Given the description of an element on the screen output the (x, y) to click on. 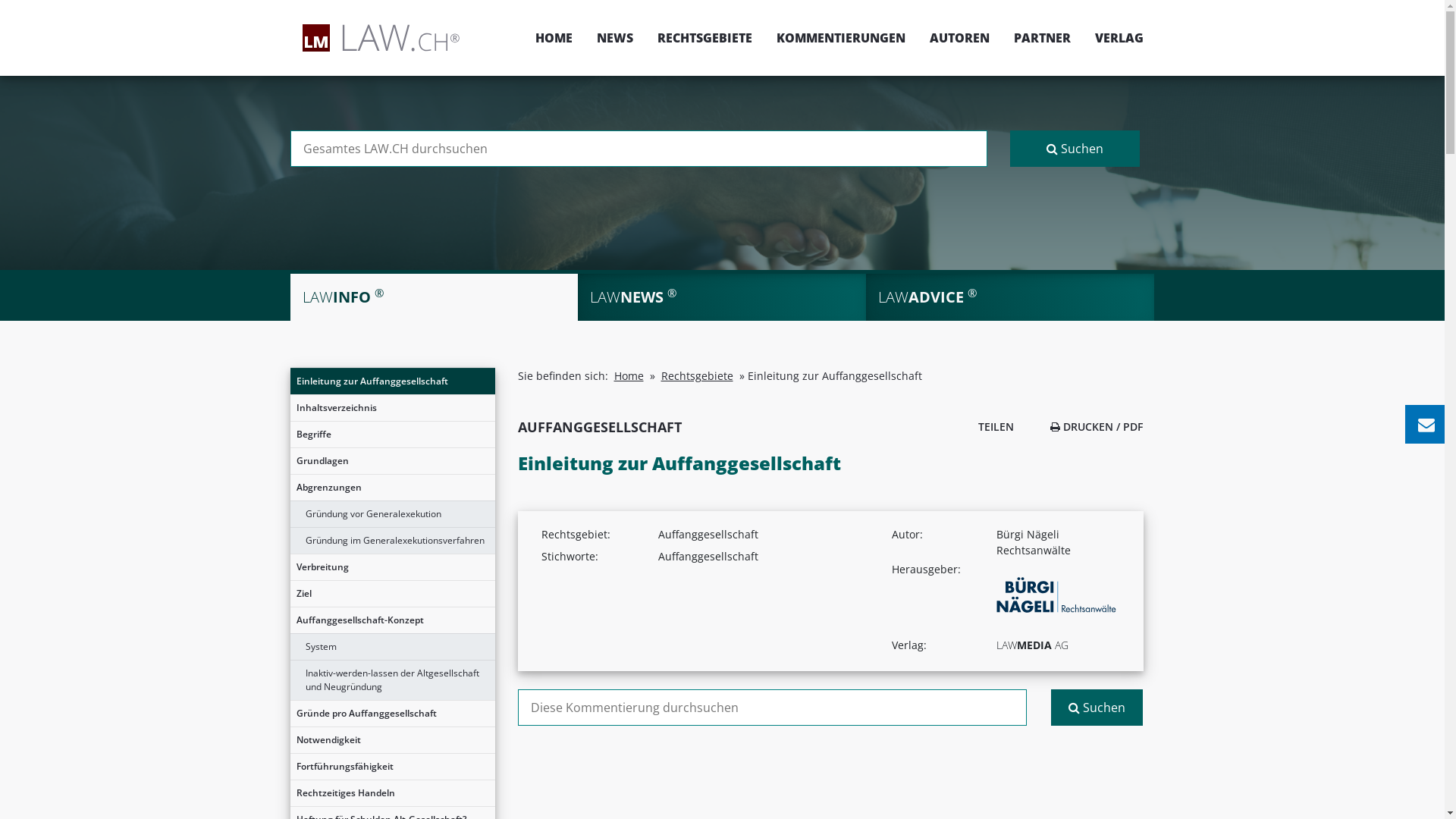
Begriffe Element type: text (391, 434)
Abgrenzungen Element type: text (391, 487)
 DRUCKEN / PDF Element type: text (1096, 426)
Rechtsgebiete Element type: text (697, 375)
Auffanggesellschaft-Konzept Element type: text (391, 620)
KOMMENTIERUNGEN Element type: text (840, 37)
Ziel Element type: text (391, 593)
PARTNER Element type: text (1041, 37)
AUTOREN Element type: text (959, 37)
Rechtzeitiges Handeln Element type: text (391, 793)
Grundlagen Element type: text (391, 460)
HOME Element type: text (553, 37)
Suchen nach: Element type: hover (637, 148)
Einleitung zur Auffanggesellschaft Element type: text (391, 381)
Inhaltsverzeichnis Element type: text (391, 407)
VERLAG Element type: text (1112, 37)
Verbreitung Element type: text (391, 567)
Suchen nach: Element type: hover (771, 707)
RECHTSGEBIETE Element type: text (703, 37)
Notwendigkeit Element type: text (391, 740)
NEWS Element type: text (613, 37)
 TEILEN Element type: text (991, 426)
Skip to content Element type: text (1443, 0)
System Element type: text (391, 646)
Home Element type: text (628, 375)
